Given the description of an element on the screen output the (x, y) to click on. 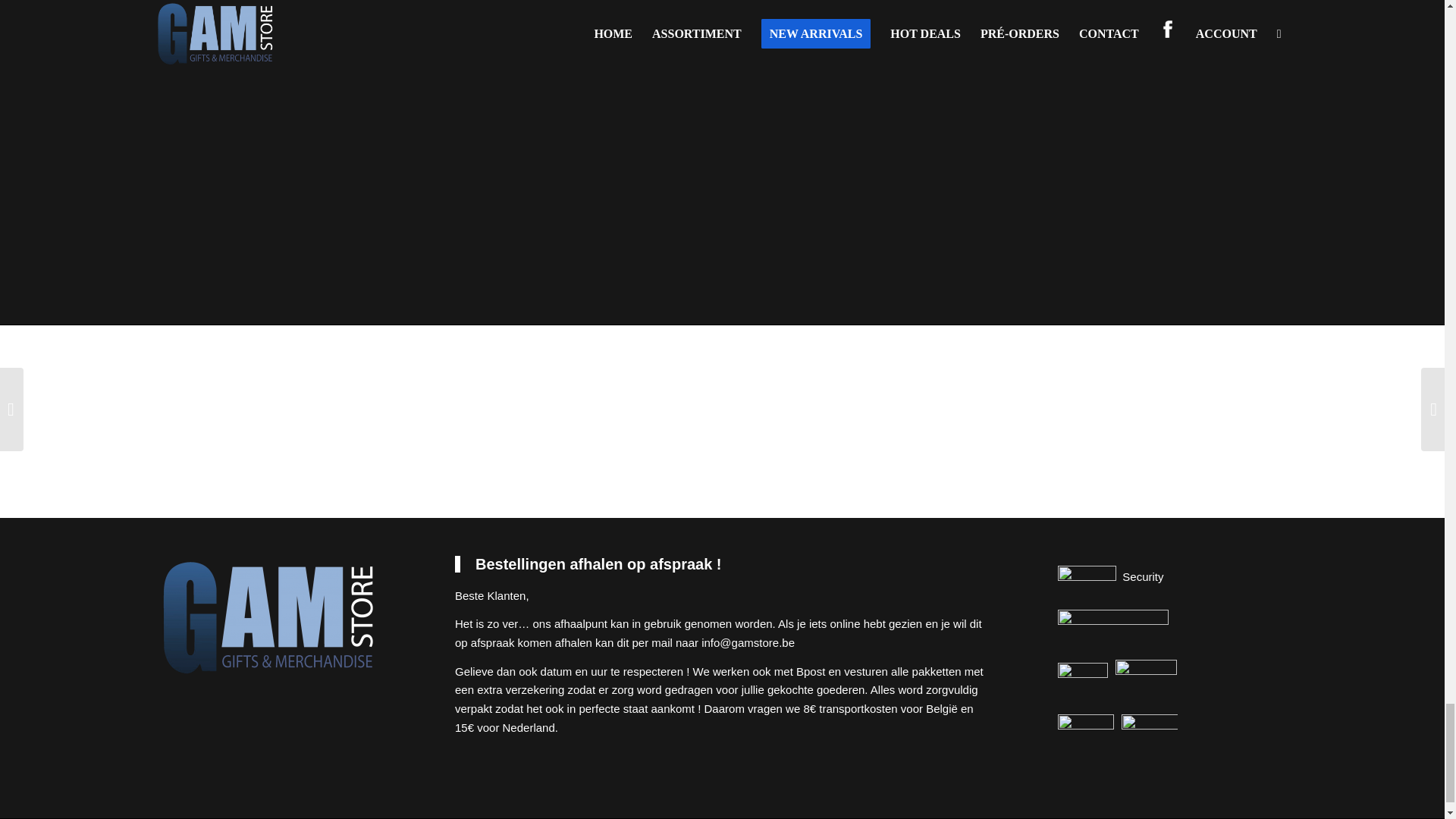
GAM Store logo (269, 618)
